Given the description of an element on the screen output the (x, y) to click on. 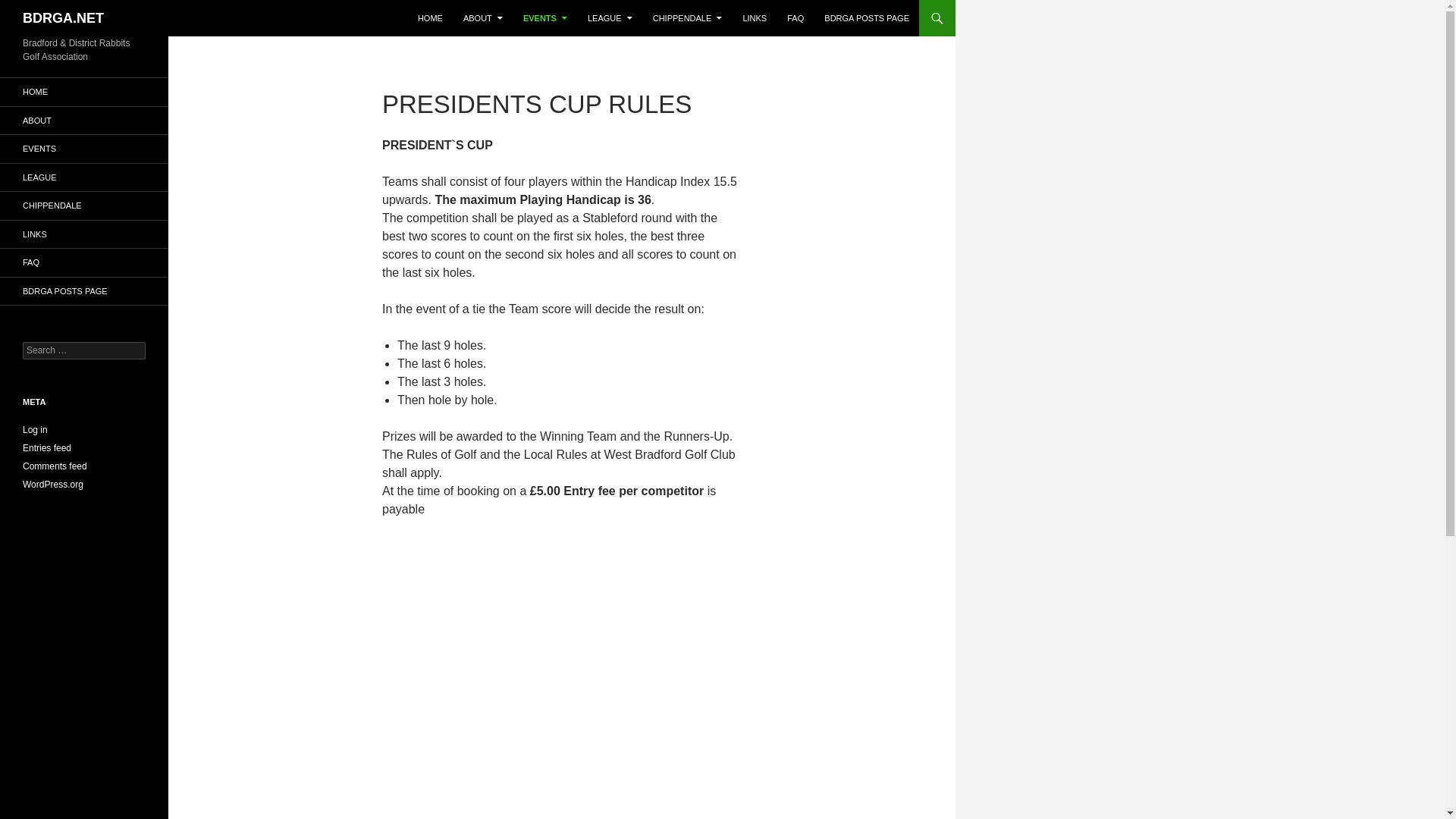
ABOUT (483, 18)
LEAGUE (610, 18)
HOME (430, 18)
BDRGA.NET (63, 18)
EVENTS (544, 18)
